Given the description of an element on the screen output the (x, y) to click on. 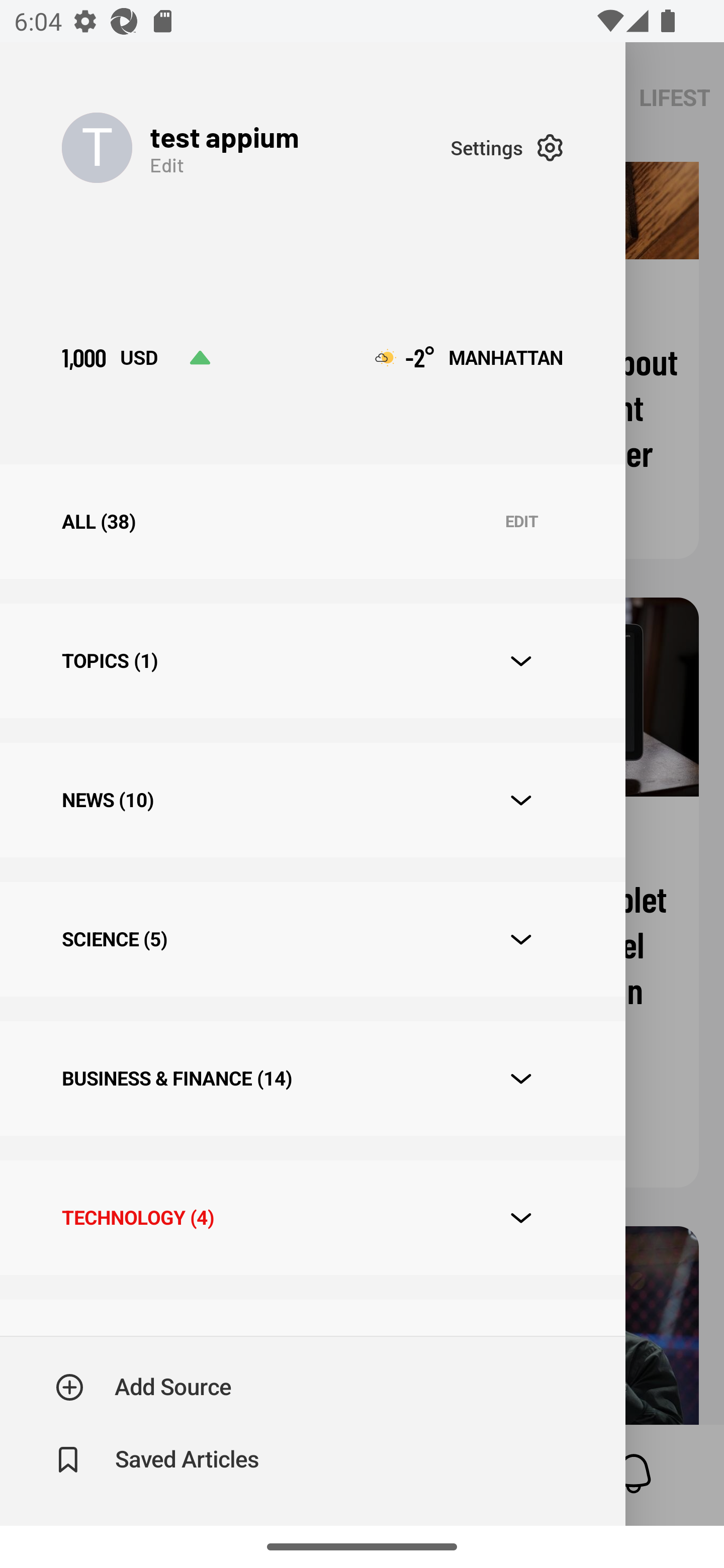
Close navigation menu (674, 783)
T test appium Edit (255, 147)
Settings Select News Style (506, 147)
1,000 USD Current State of the Currency (135, 357)
Current State of the Weather -2° MANHATTAN (469, 357)
ALL  (38) EDIT (312, 521)
EDIT (521, 521)
TOPICS  (1) Expand Button (312, 660)
Expand Button (521, 661)
NEWS  (10) Expand Button (312, 800)
Expand Button (521, 800)
SCIENCE  (5) Expand Button (312, 939)
Expand Button (521, 938)
BUSINESS & FINANCE  (14) Expand Button (312, 1077)
Expand Button (521, 1078)
TECHNOLOGY  (4) Expand Button (312, 1217)
Expand Button (521, 1218)
Open Content Store Add Source (143, 1387)
Open Saved News  Saved Articles (158, 1459)
